Given the description of an element on the screen output the (x, y) to click on. 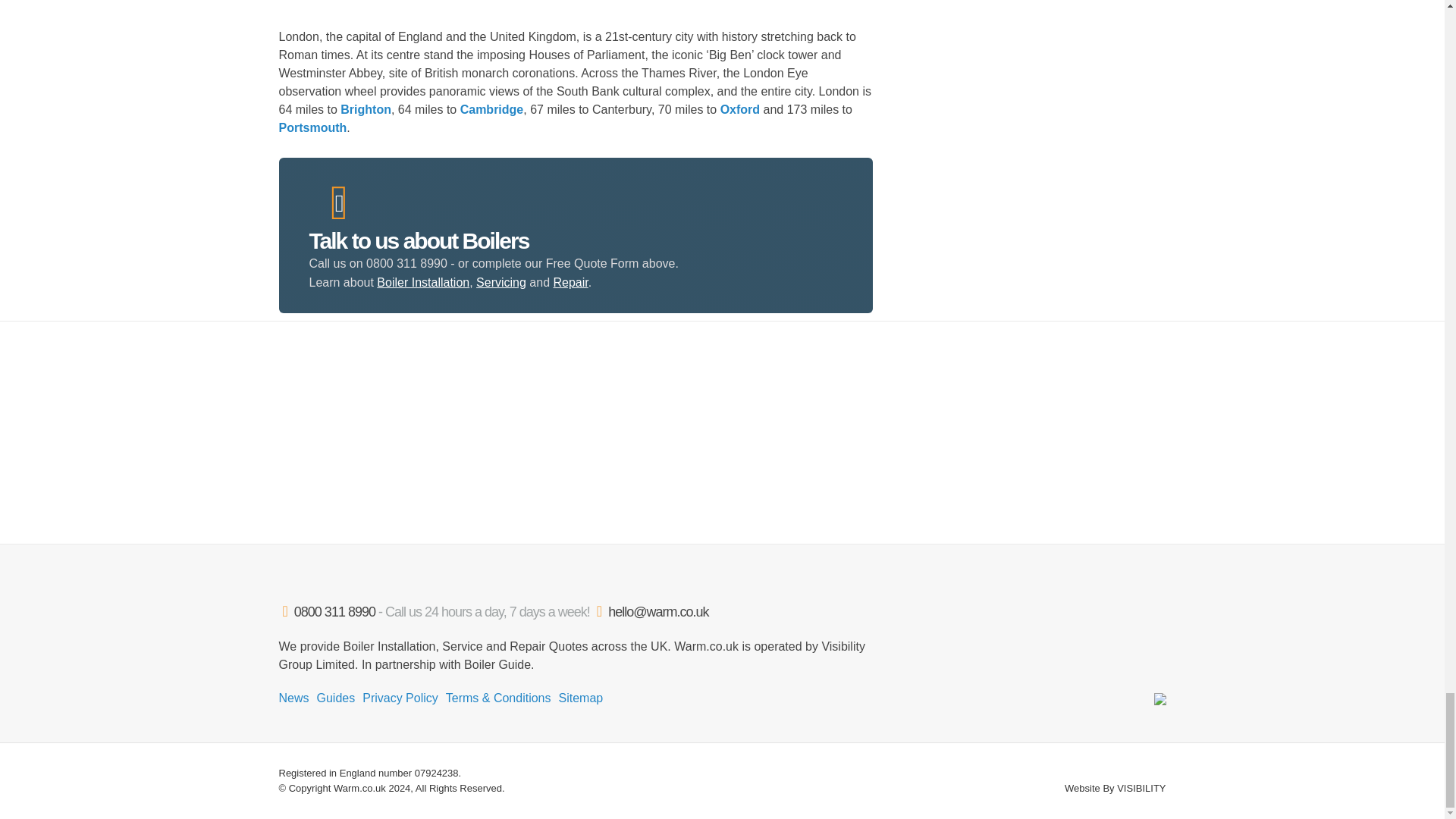
Sitemap (581, 698)
Privacy Policy (400, 698)
Web Design (1141, 787)
Guides (336, 698)
News (293, 698)
